Given the description of an element on the screen output the (x, y) to click on. 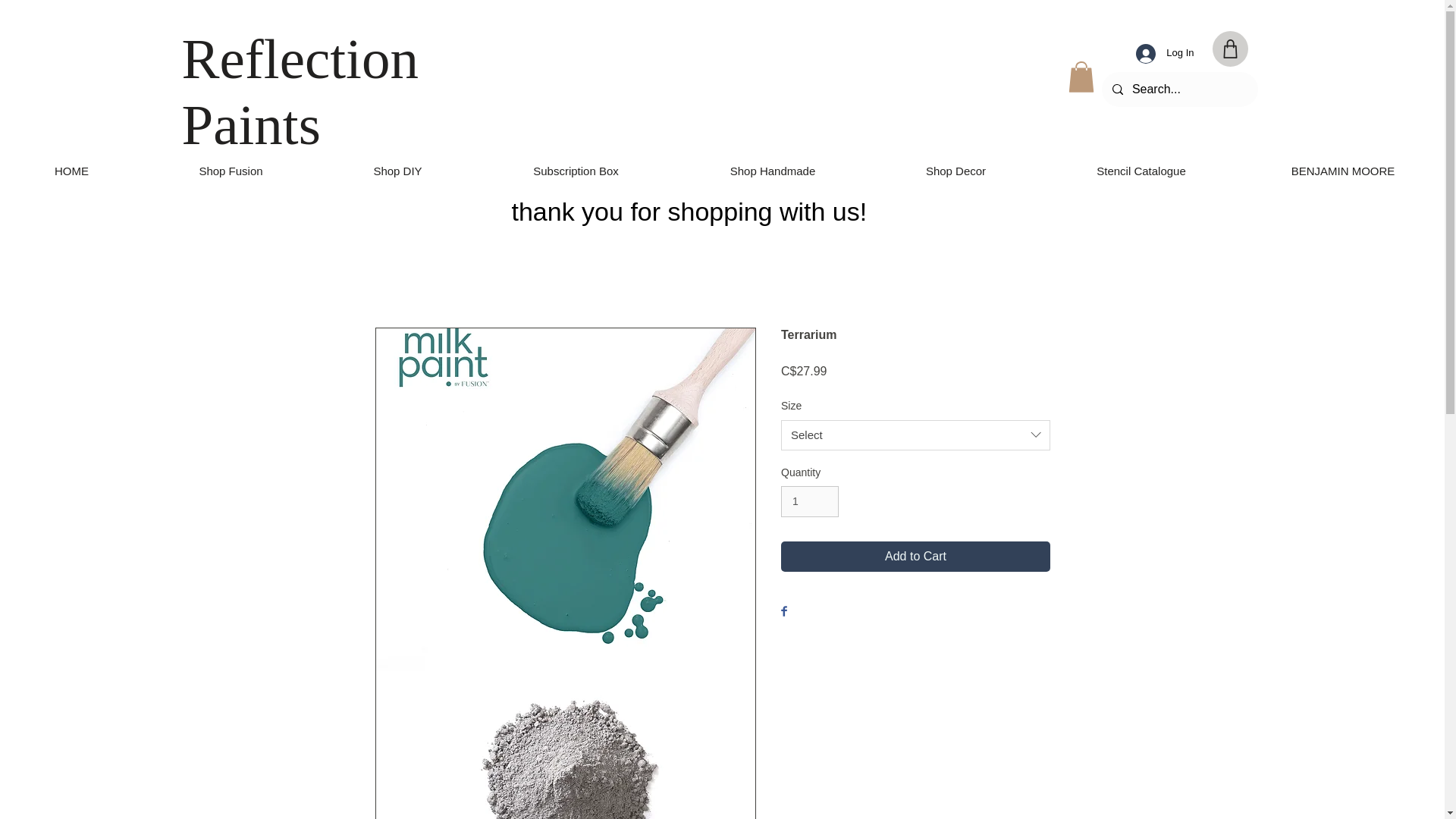
Subscription Box (576, 171)
Shop Handmade (772, 171)
Log In (1164, 53)
1 (809, 501)
HOME (71, 171)
Shop Decor (955, 171)
Shop Fusion (230, 171)
Shop DIY (397, 171)
